Given the description of an element on the screen output the (x, y) to click on. 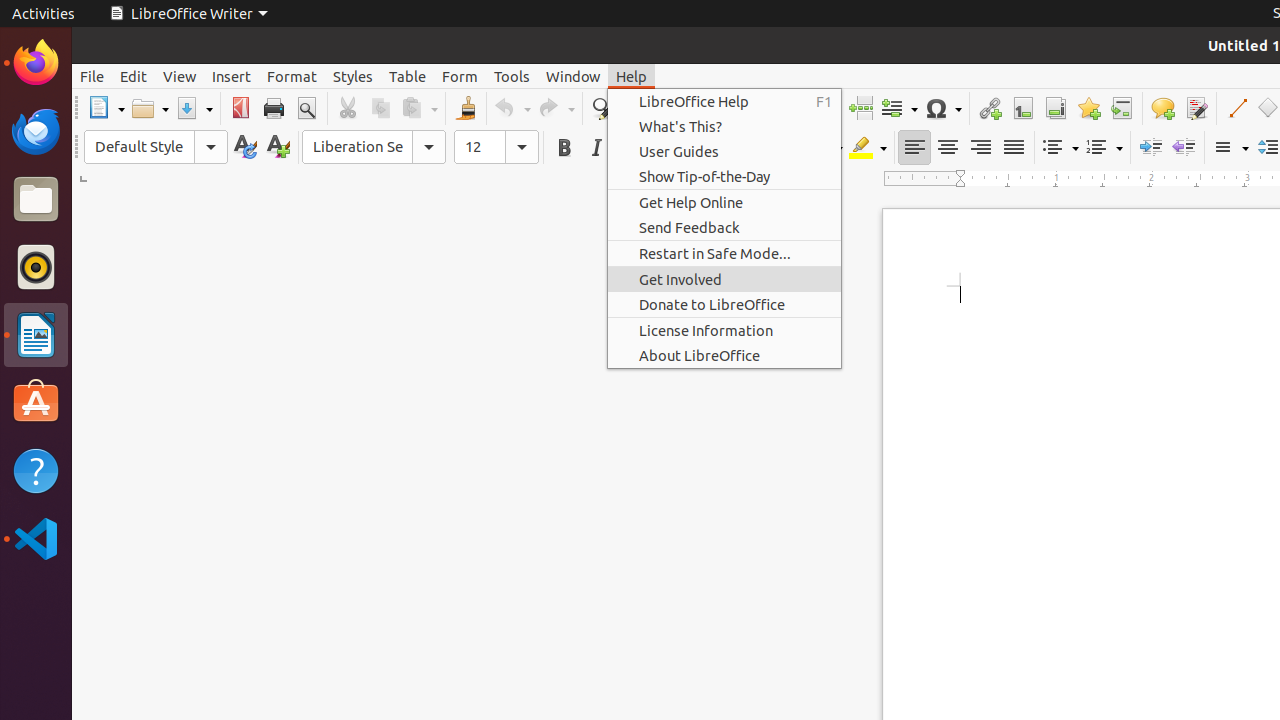
Table Element type: menu (407, 76)
Rhythmbox Element type: push-button (36, 267)
Field Element type: push-button (899, 108)
Get Help Online Element type: menu-item (724, 202)
Insert Element type: menu (231, 76)
